Given the description of an element on the screen output the (x, y) to click on. 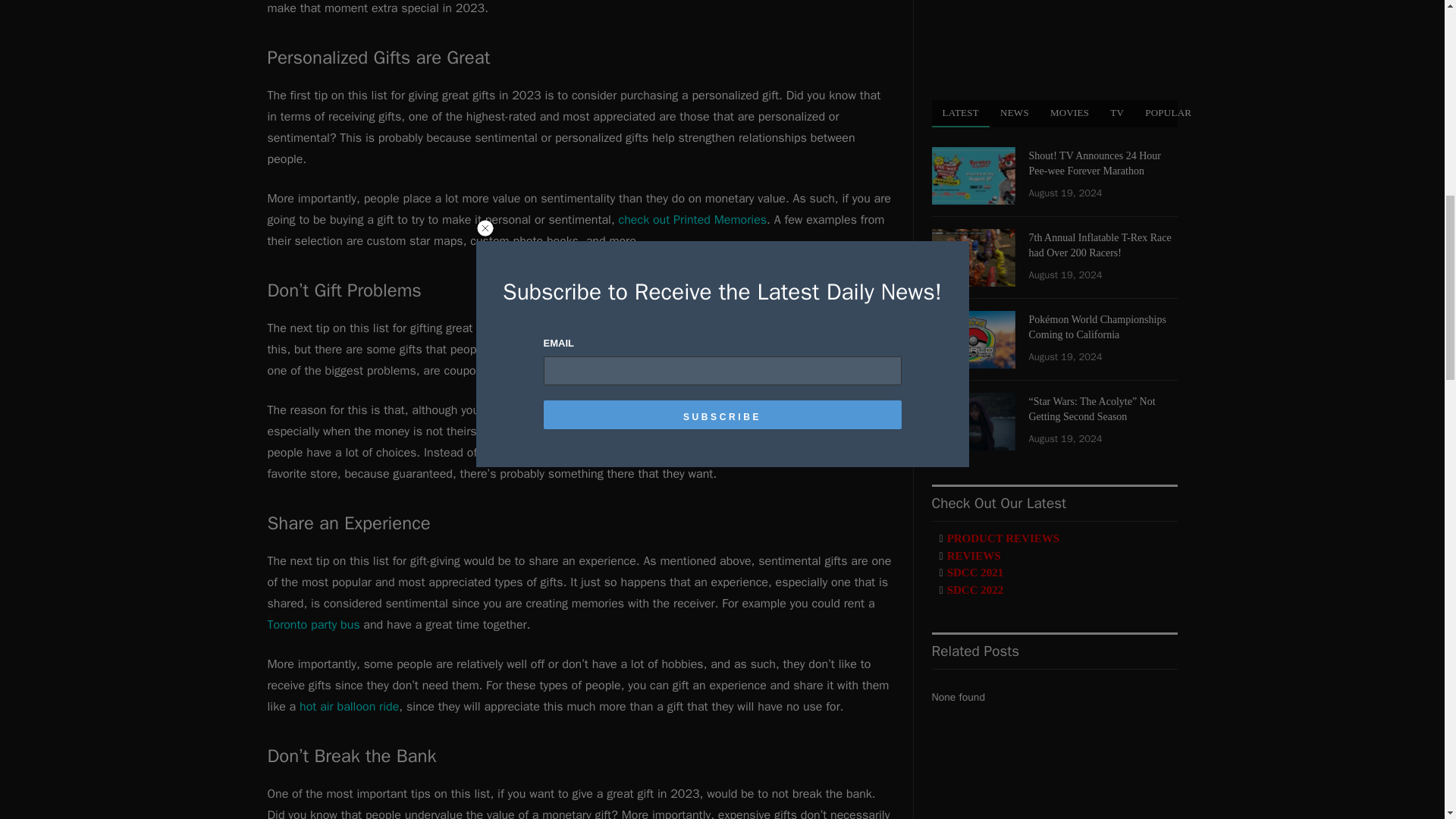
check out Printed Memories (692, 219)
hot air balloon ride (348, 706)
Toronto party bus (312, 624)
